Given the description of an element on the screen output the (x, y) to click on. 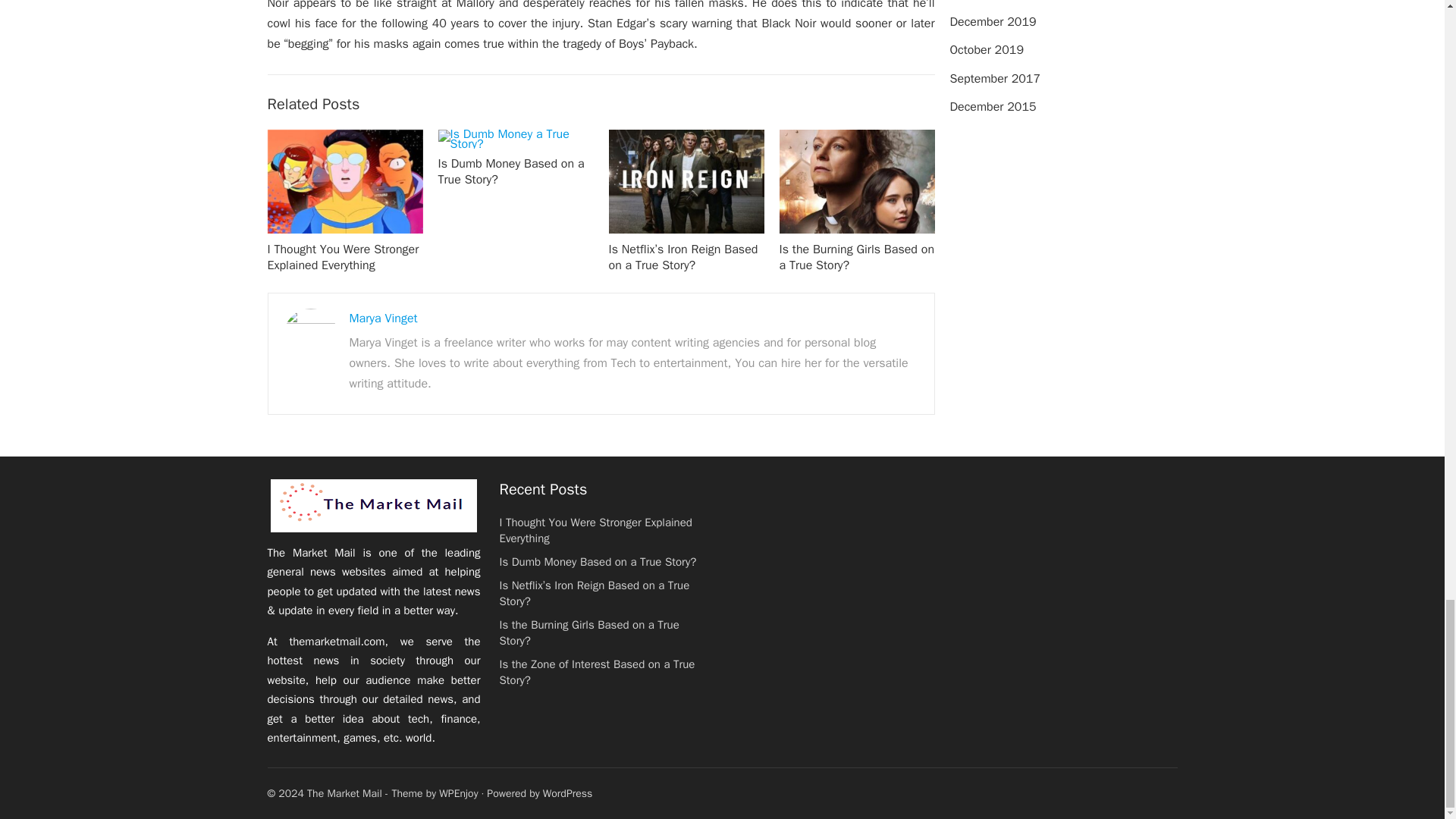
Is the Burning Girls Based on a True Story? (856, 256)
Is Dumb Money Based on a True Story? (511, 171)
Marya Vinget (382, 318)
I Thought You Were Stronger Explained Everything (342, 256)
